Given the description of an element on the screen output the (x, y) to click on. 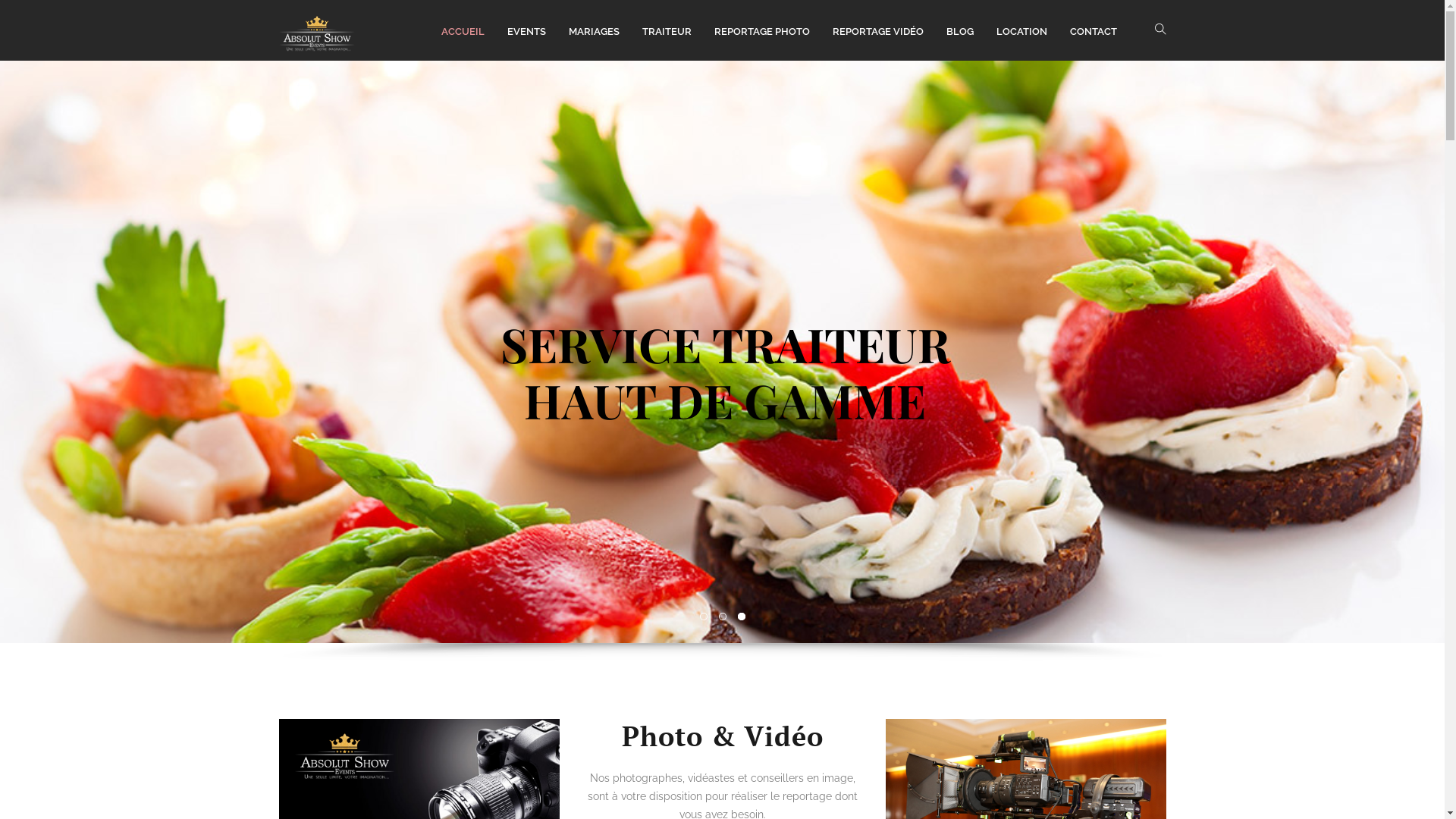
REPORTAGE PHOTO Element type: text (765, 30)
Home Element type: hover (317, 30)
TRAITEUR Element type: text (669, 30)
MARIAGES Element type: text (597, 30)
LOCATION Element type: text (1025, 30)
CONTACT Element type: text (1096, 30)
BLOG Element type: text (963, 30)
ACCUEIL Element type: text (466, 30)
EVENTS Element type: text (529, 30)
